Given the description of an element on the screen output the (x, y) to click on. 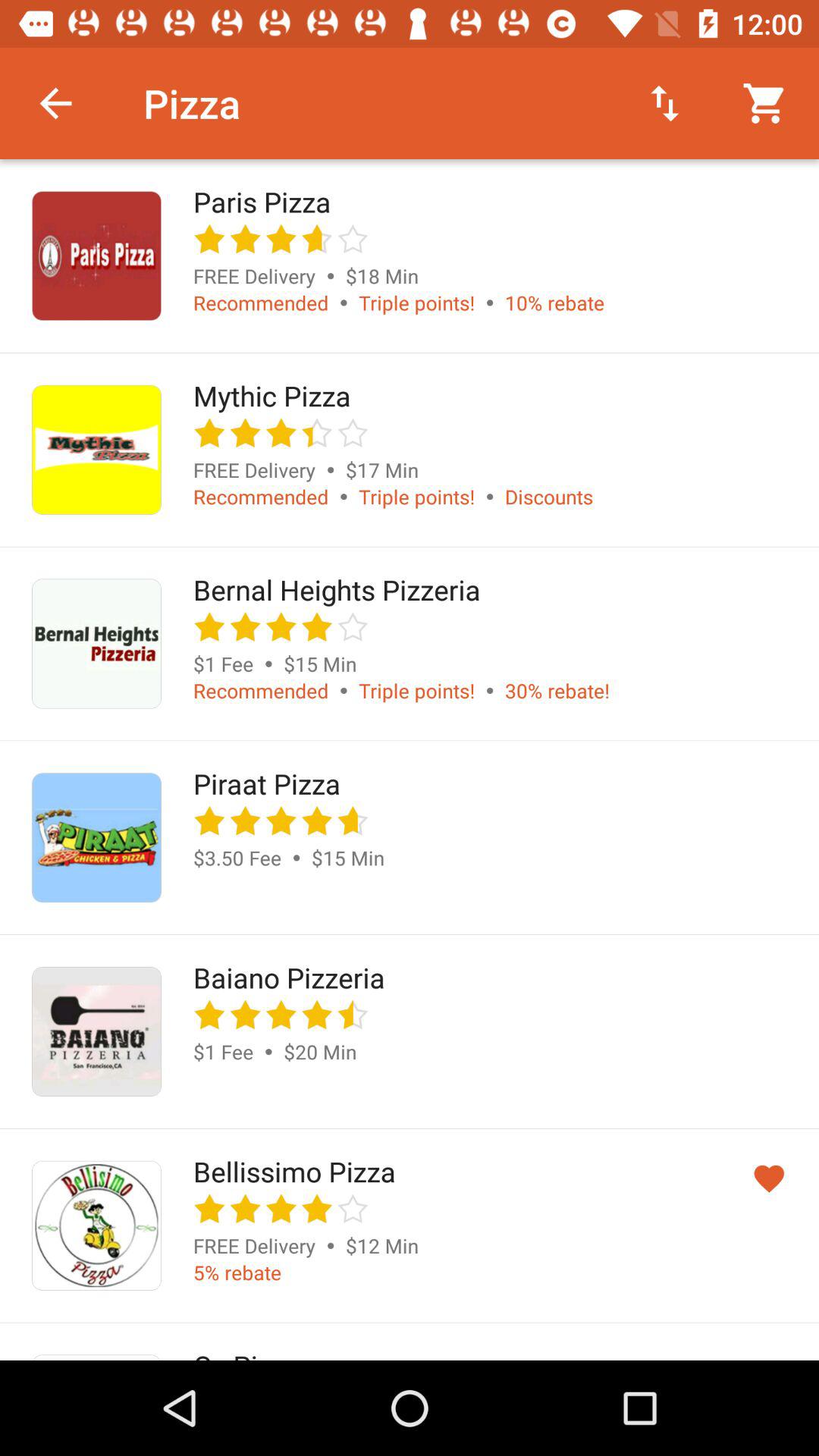
open the icon to the left of the pizza (55, 103)
